Given the description of an element on the screen output the (x, y) to click on. 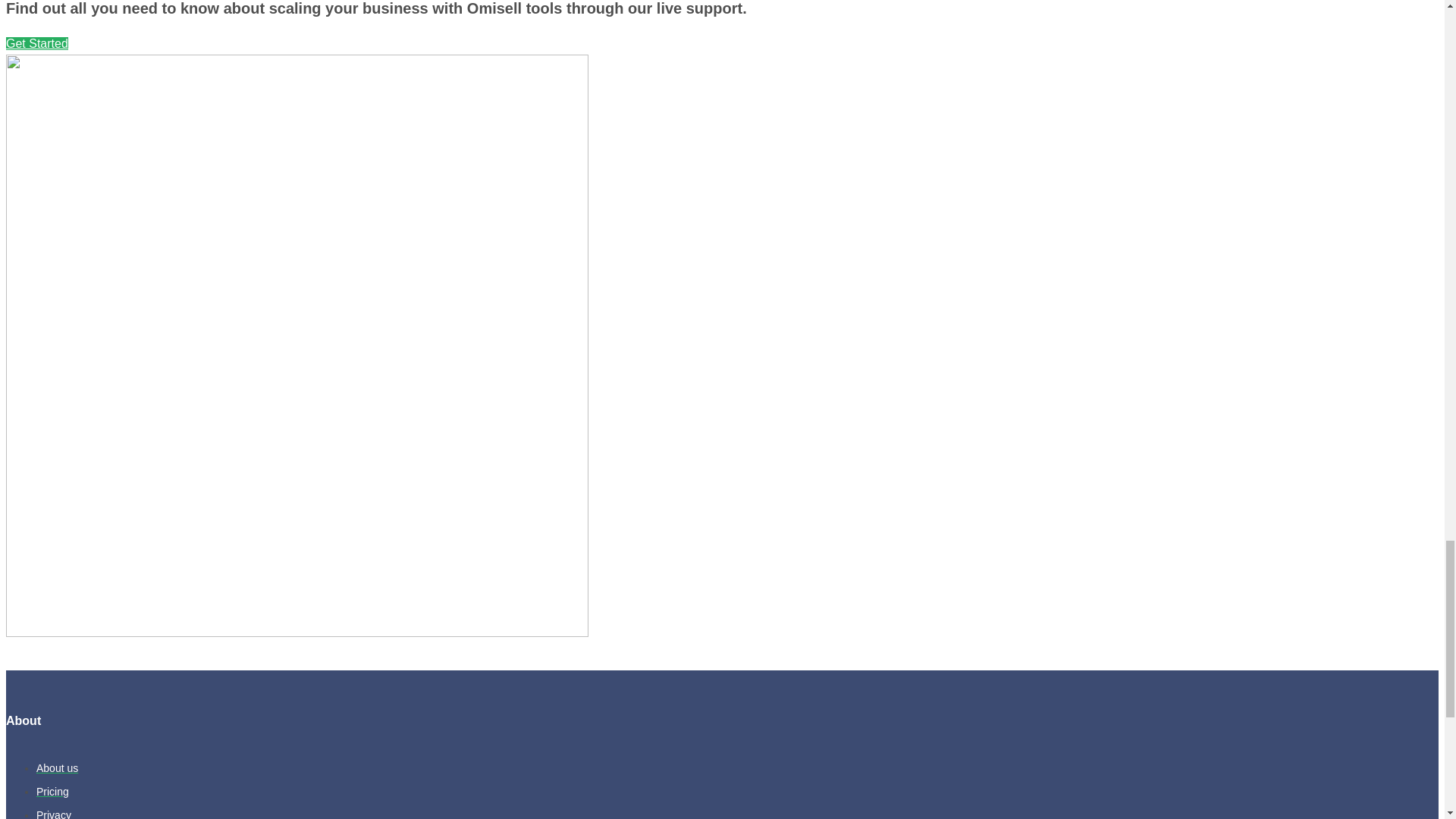
Get Started (36, 42)
Pricing (52, 791)
About us (57, 767)
Privacy (53, 814)
